Given the description of an element on the screen output the (x, y) to click on. 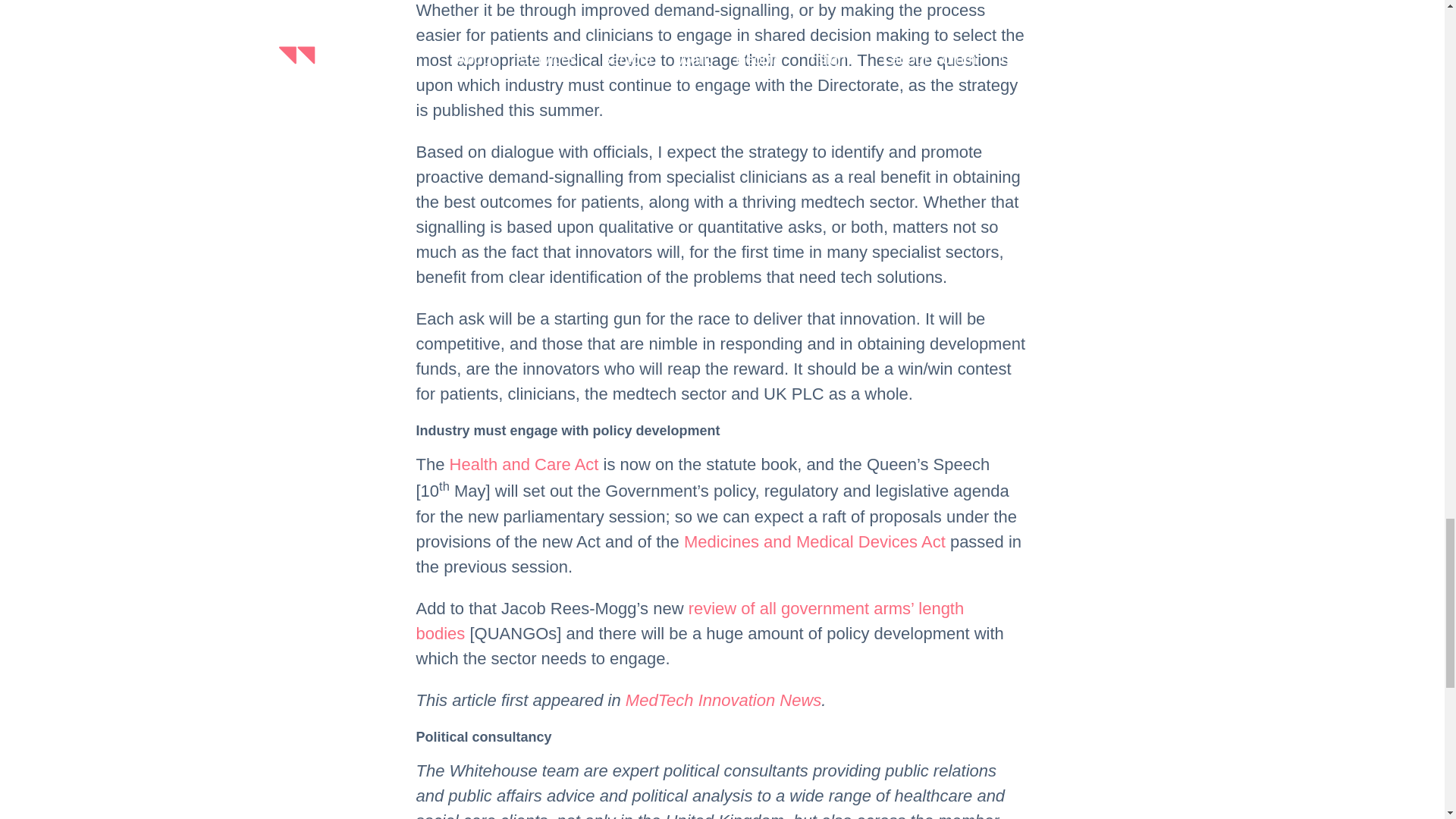
Medicines and Medical Devices Act (814, 541)
Health and Care Act (523, 464)
MedTech Innovation News (723, 700)
